Given the description of an element on the screen output the (x, y) to click on. 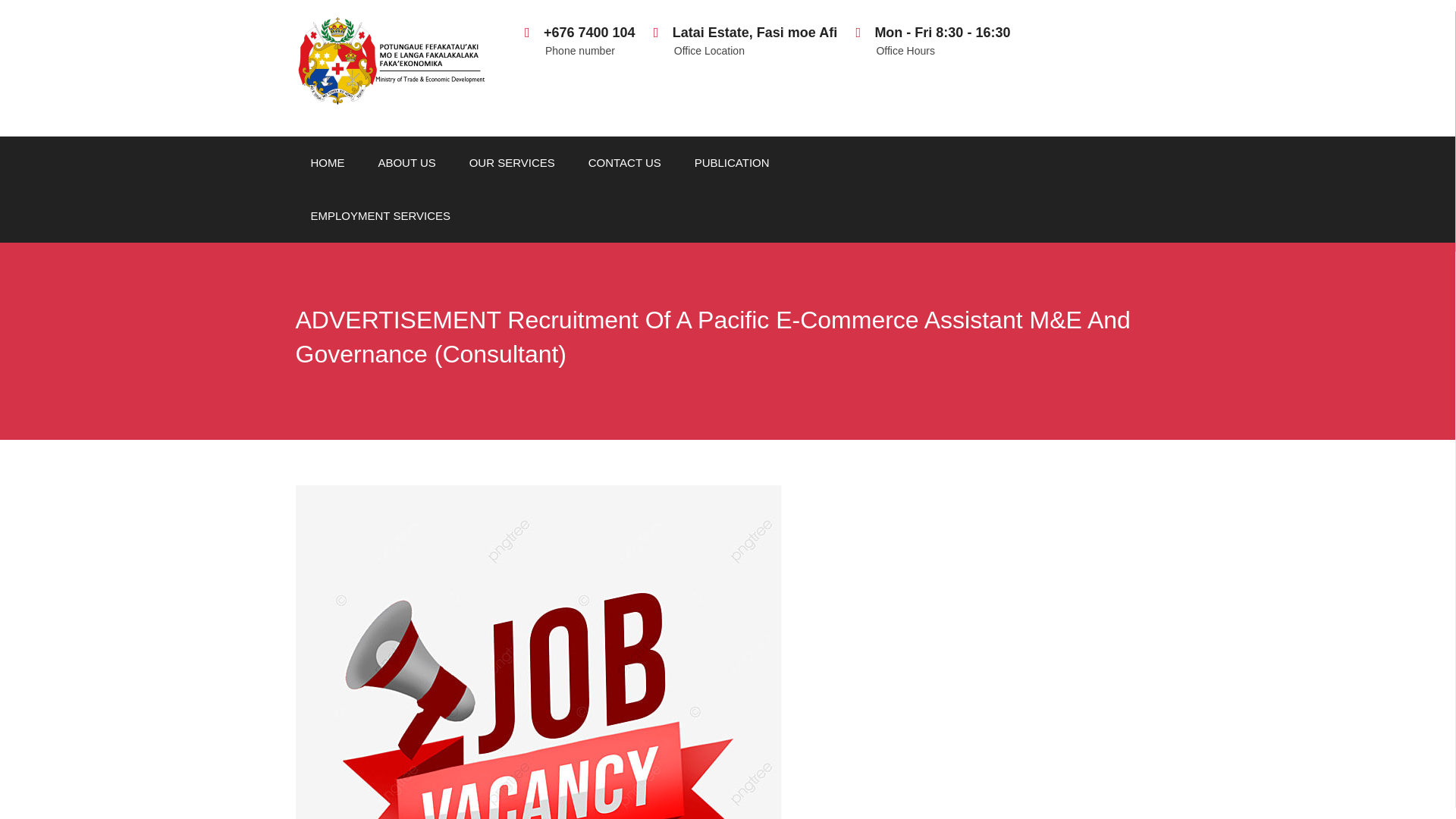
HOME (327, 162)
OUR SERVICES (512, 162)
CONTACT US (625, 162)
ABOUT US (745, 41)
PUBLICATION (405, 162)
EMPLOYMENT SERVICES (933, 41)
